Given the description of an element on the screen output the (x, y) to click on. 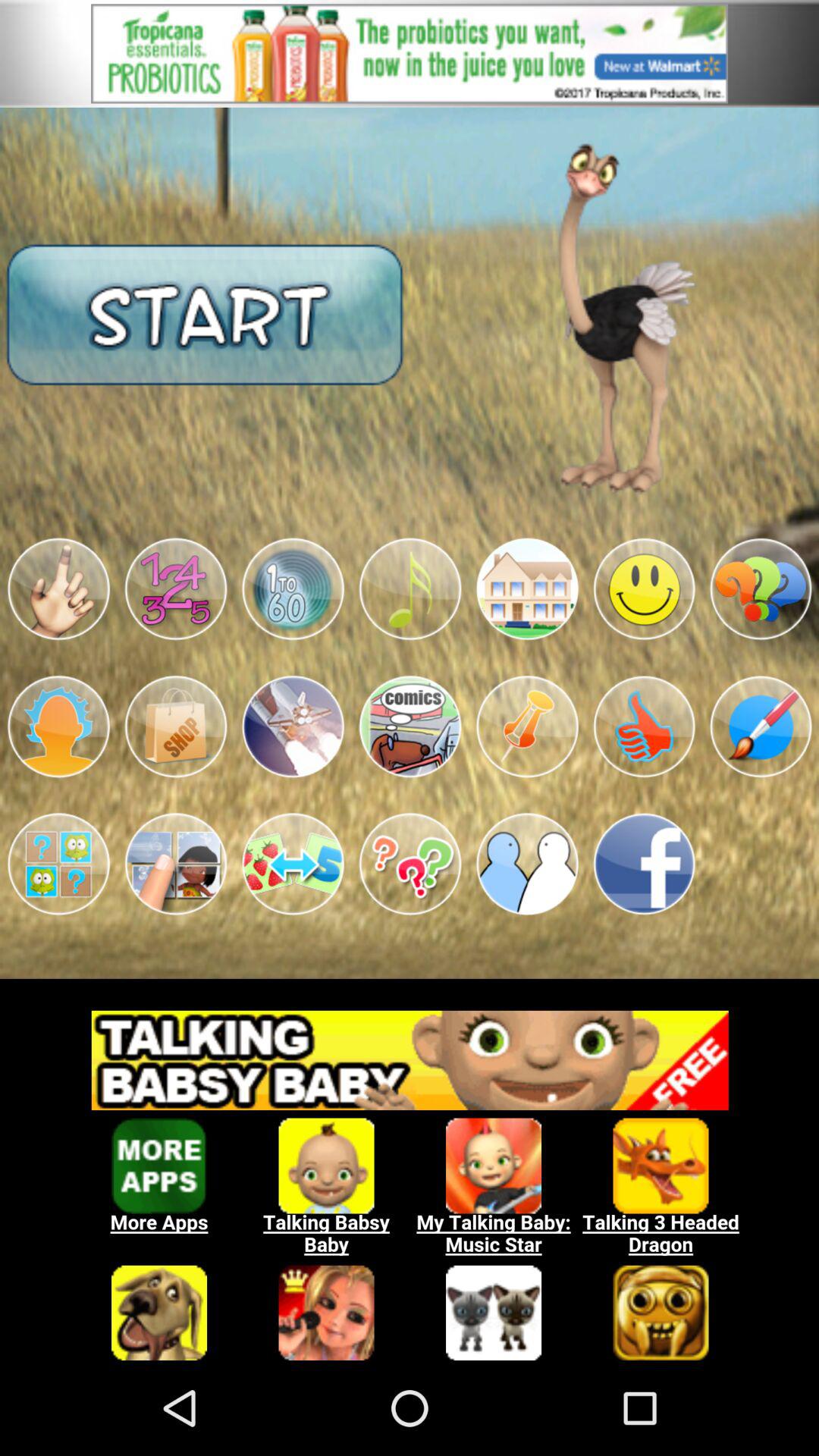
go to the app (409, 726)
